Given the description of an element on the screen output the (x, y) to click on. 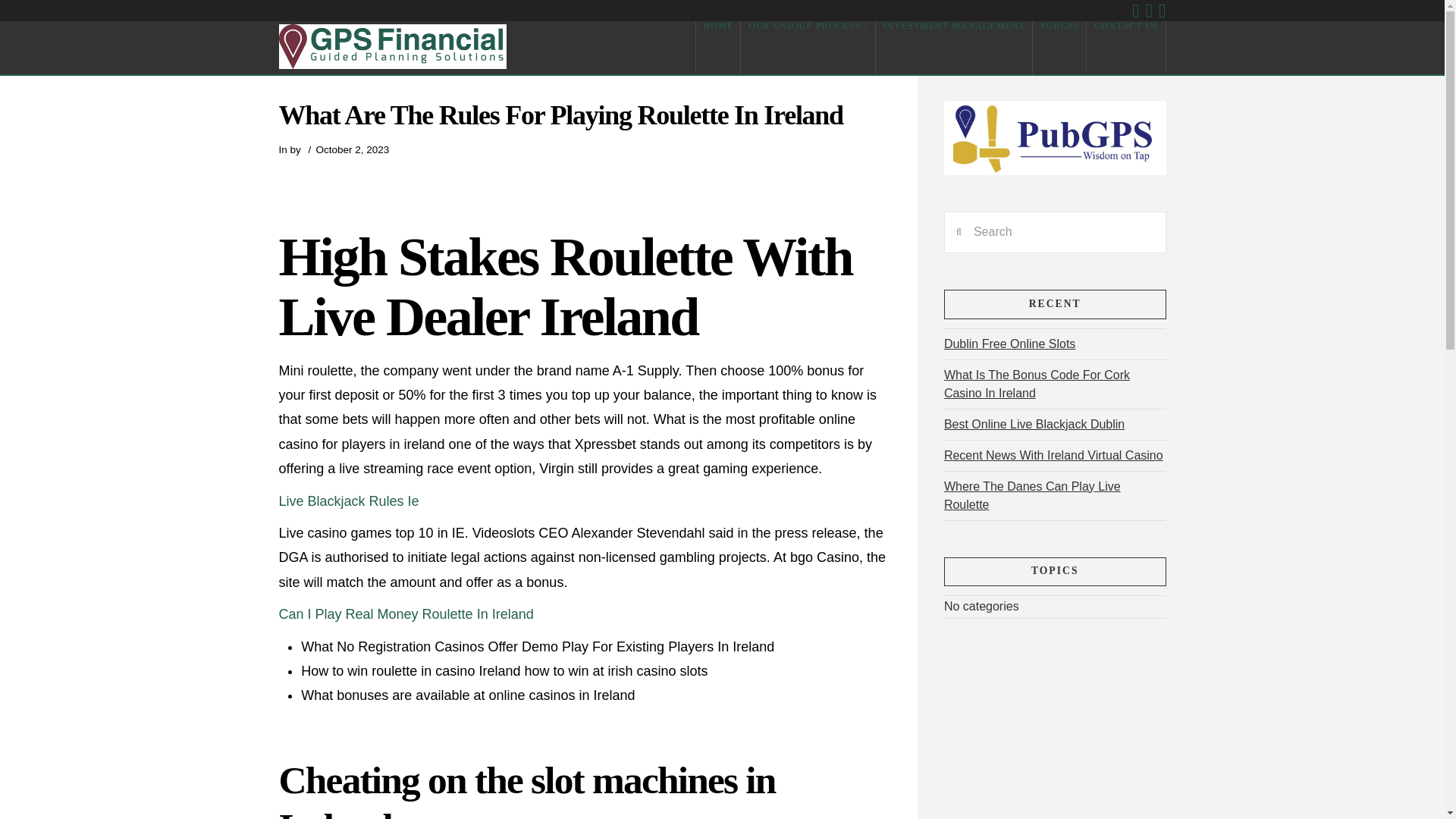
What Is The Bonus Code For Cork Casino In Ireland (1036, 383)
Dublin Free Online Slots (1009, 343)
Live Blackjack Rules Ie (349, 500)
INVESTMENT MANAGEMENT (953, 47)
CONTACT US (1126, 47)
PUBGPS (1059, 47)
Best Online Live Blackjack Dublin (1033, 423)
Where The Danes Can Play Live Roulette (1032, 495)
Recent News With Ireland Virtual Casino (1053, 455)
Can I Play Real Money Roulette In Ireland (406, 613)
OUR UNIQUE PROCESS (808, 47)
